Given the description of an element on the screen output the (x, y) to click on. 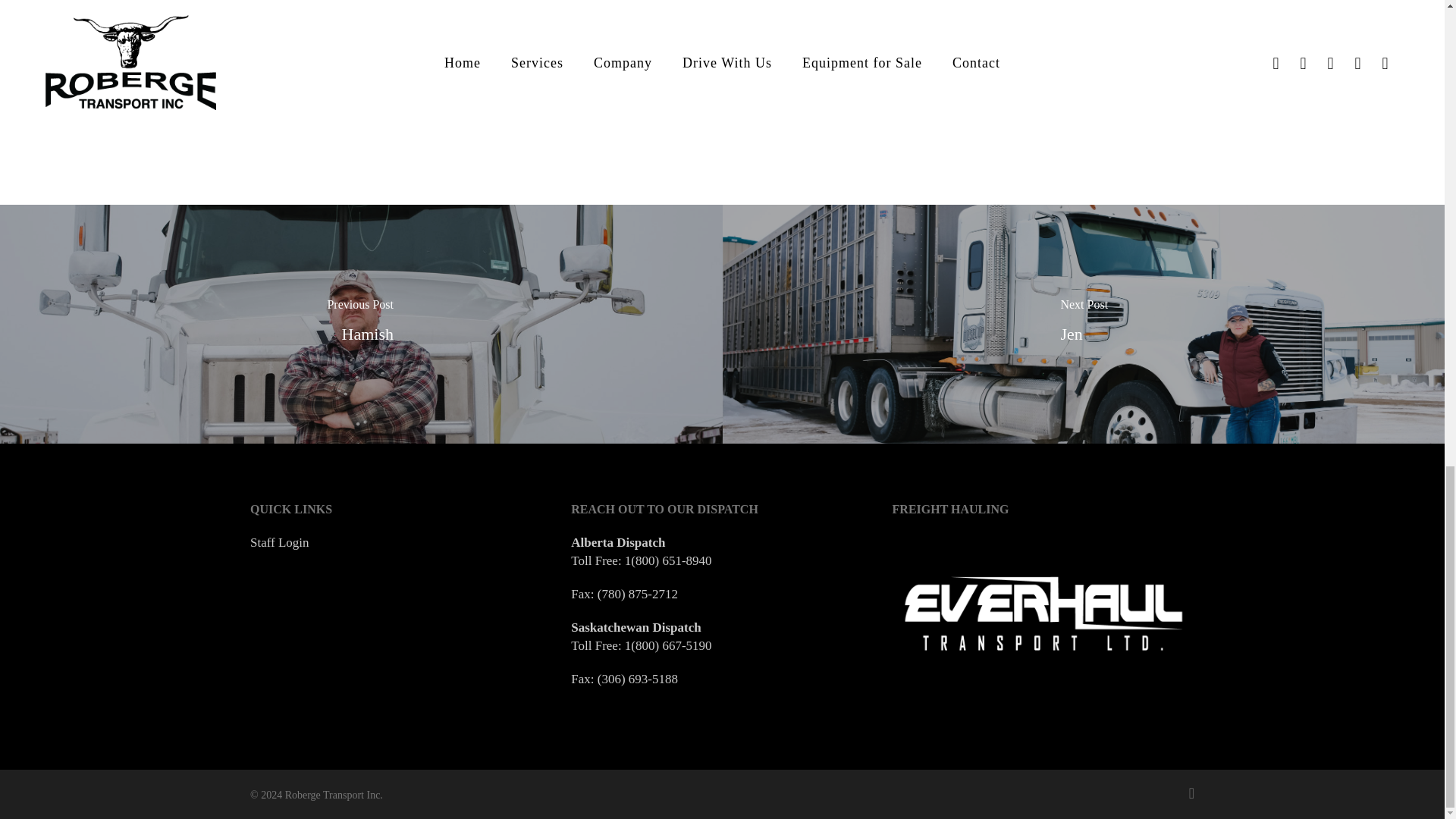
Apply Today (1012, 23)
Staff Login (279, 541)
